Given the description of an element on the screen output the (x, y) to click on. 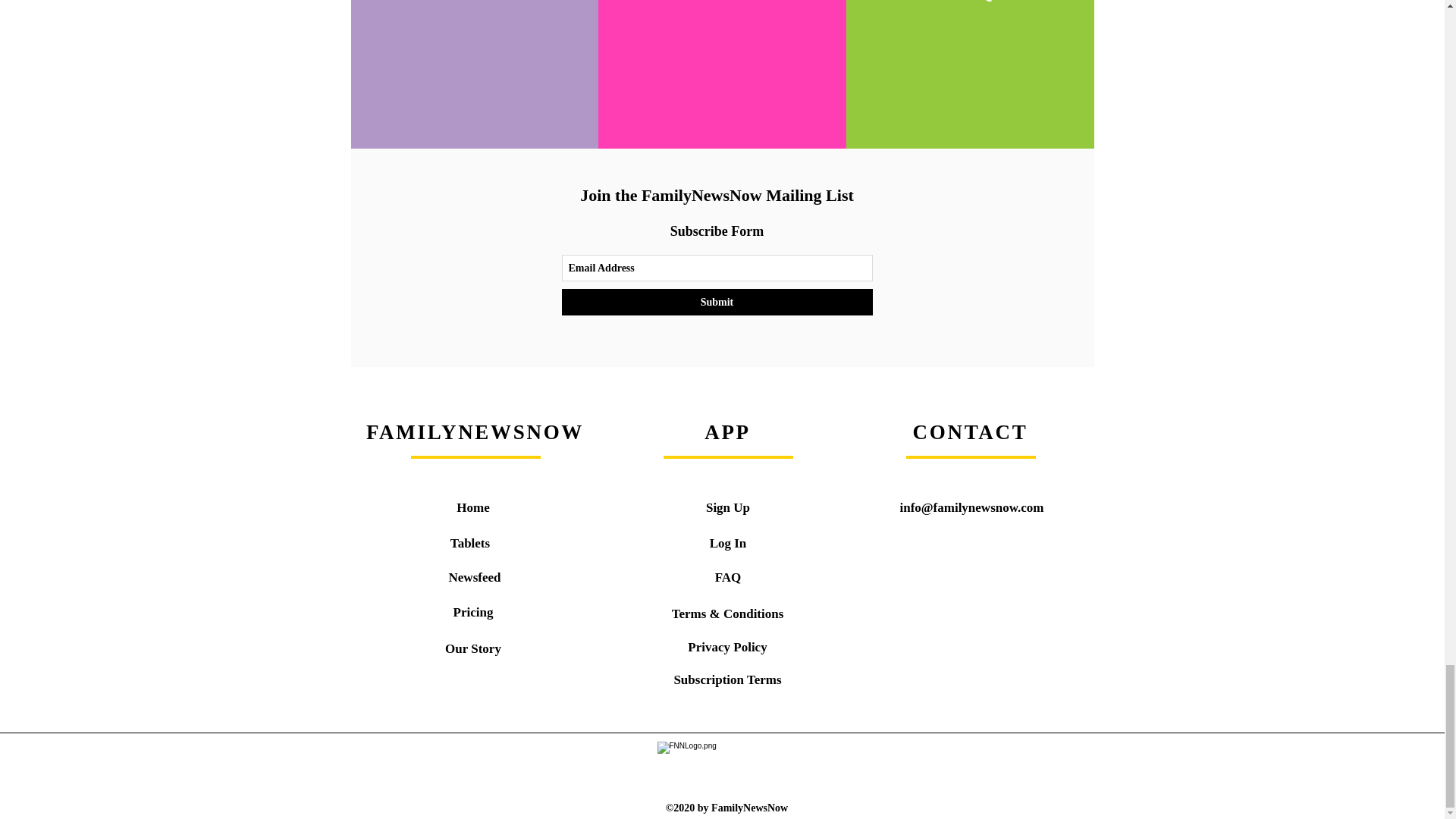
Join the FamilyNewsNow Mailing List (716, 194)
Submit (716, 302)
Home (473, 507)
Tablets (469, 543)
Newsfeed (474, 577)
FAQ (727, 577)
Subscription Terms (726, 679)
Sign Up (727, 507)
Our Story (472, 648)
Pricing (472, 612)
Privacy Policy (727, 646)
Log In (728, 543)
